Given the description of an element on the screen output the (x, y) to click on. 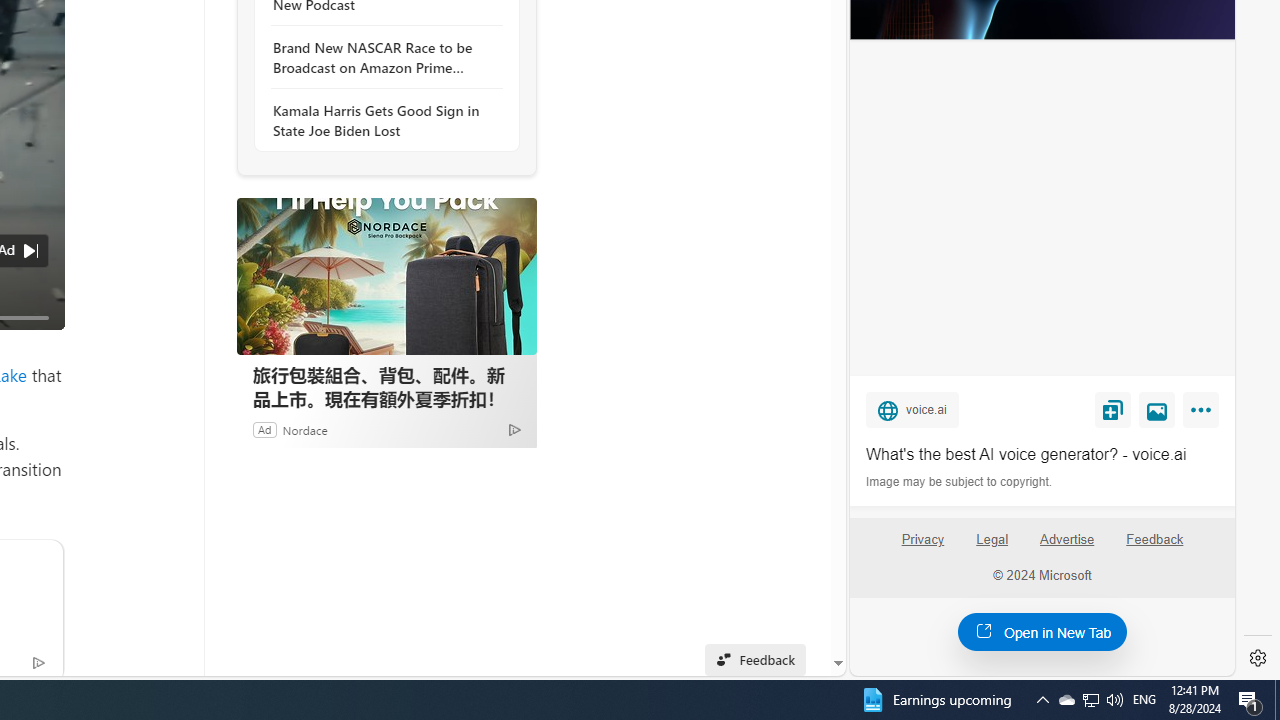
Privacy (922, 539)
View image (1157, 409)
Save (1112, 409)
Legal (991, 539)
Legal (992, 547)
Kamala Harris Gets Good Sign in State Joe Biden Lost (381, 120)
Advertise (1066, 539)
Ad Choice (514, 429)
Settings (1258, 658)
Unmute (38, 341)
More (1204, 413)
Image may be subject to copyright. (959, 481)
